Given the description of an element on the screen output the (x, y) to click on. 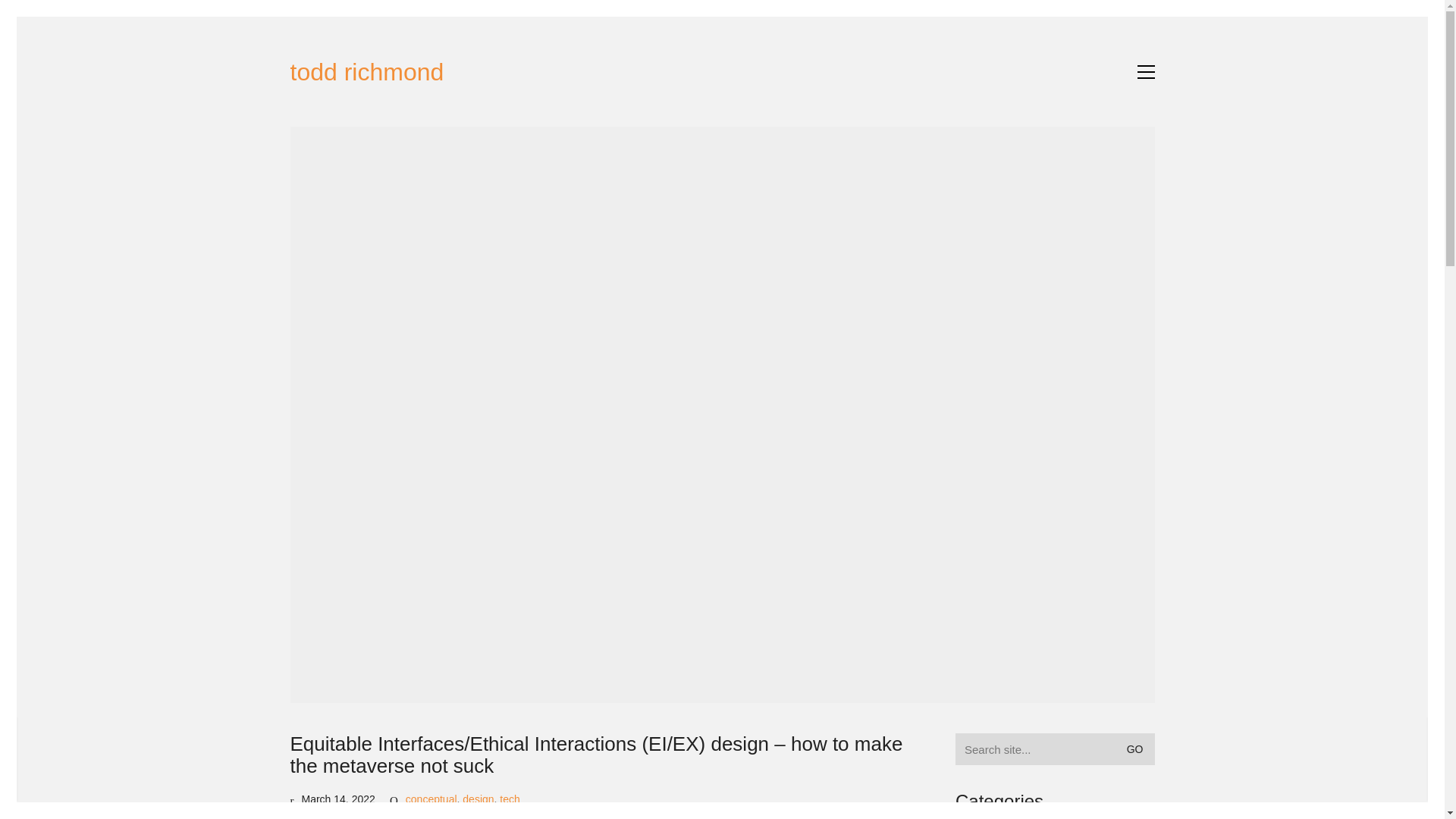
Go (1138, 749)
design (478, 799)
tech (509, 799)
Search for: (1054, 748)
Go (1138, 749)
Go (1138, 749)
todd richmond (366, 72)
conceptual (431, 799)
